Given the description of an element on the screen output the (x, y) to click on. 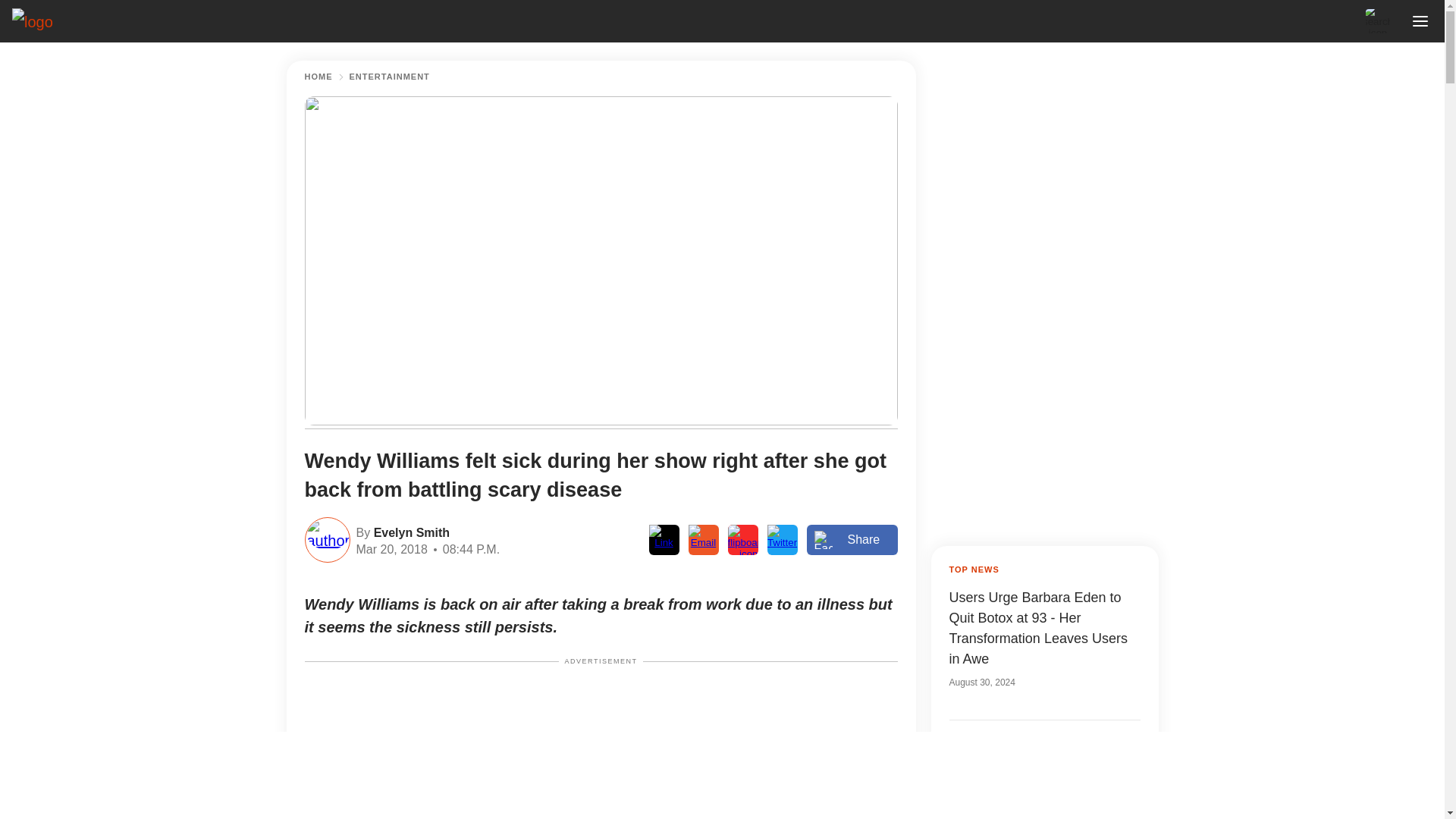
HOME (318, 76)
Evelyn Smith (409, 531)
ENTERTAINMENT (389, 76)
